Given the description of an element on the screen output the (x, y) to click on. 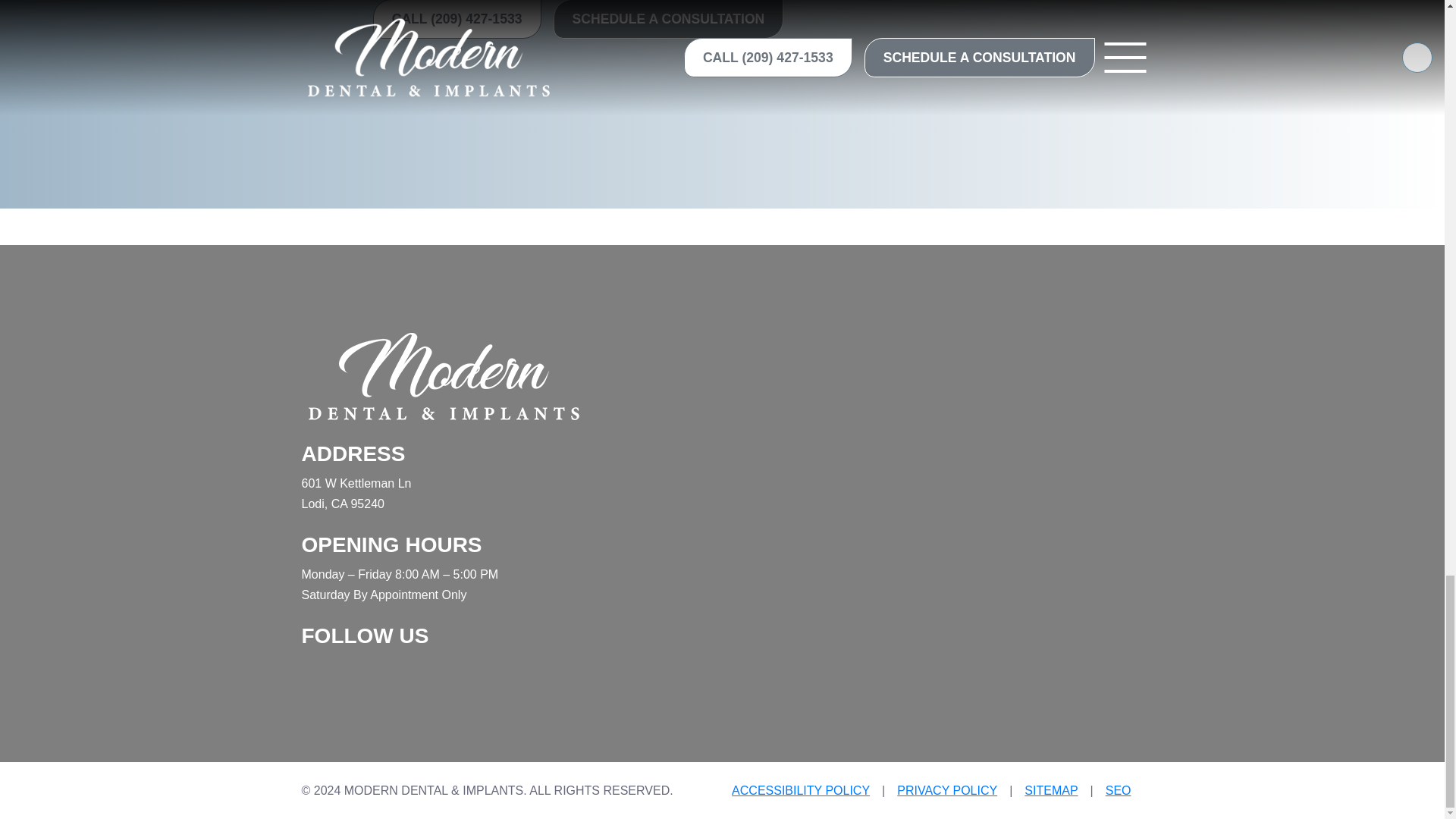
ACCESSIBILITY POLICY (800, 789)
SCHEDULE A CONSULTATION (668, 19)
Digital Marketing SEO Agency (1117, 789)
